Given the description of an element on the screen output the (x, y) to click on. 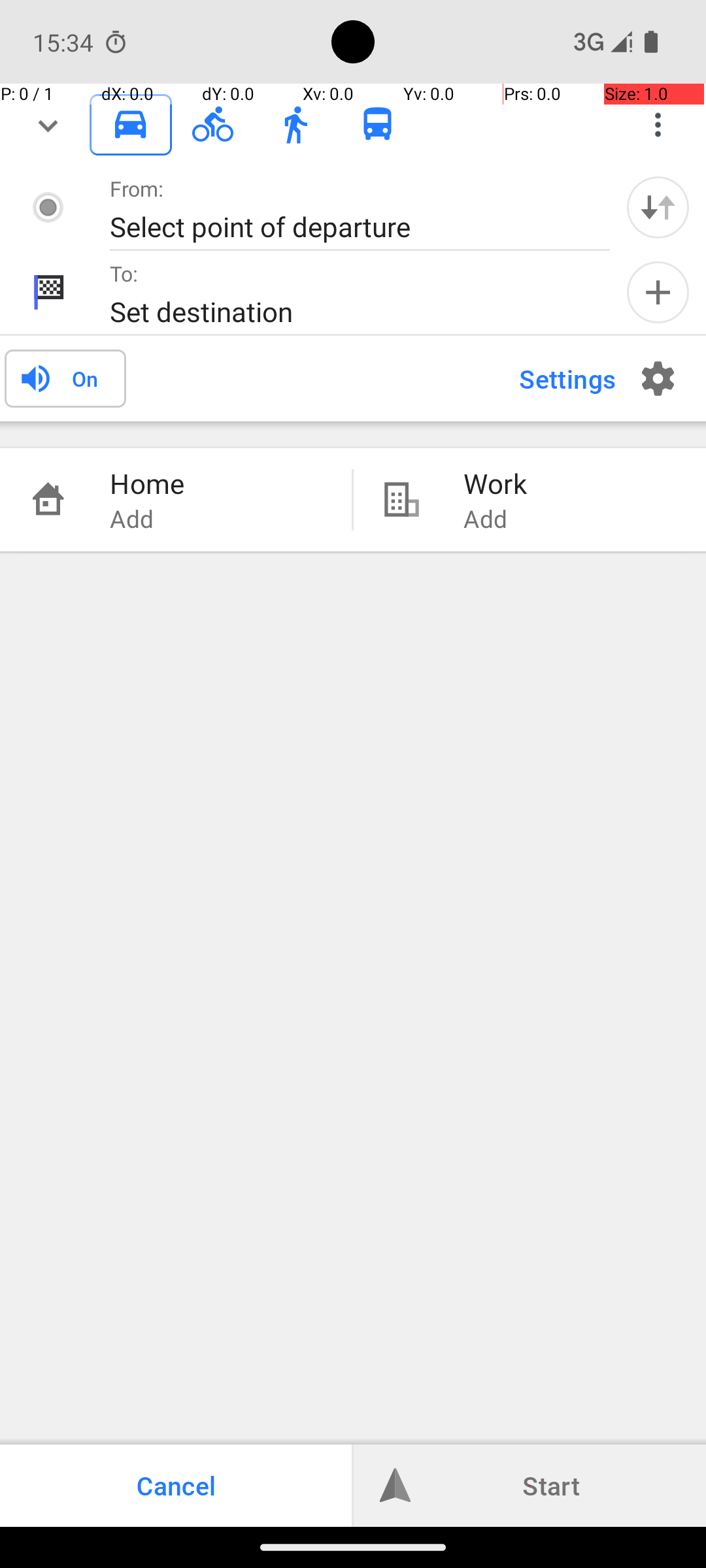
fold/unfold Element type: android.widget.ImageView (48, 124)
Choose app modes Element type: android.widget.ImageView (657, 124)
From: Element type: android.widget.TextView (136, 188)
Select point of departure Element type: android.widget.TextView (345, 226)
Swap Element type: android.widget.FrameLayout (657, 207)
To: Element type: android.widget.TextView (123, 273)
Driving checked Element type: android.widget.ImageView (130, 124)
